Given the description of an element on the screen output the (x, y) to click on. 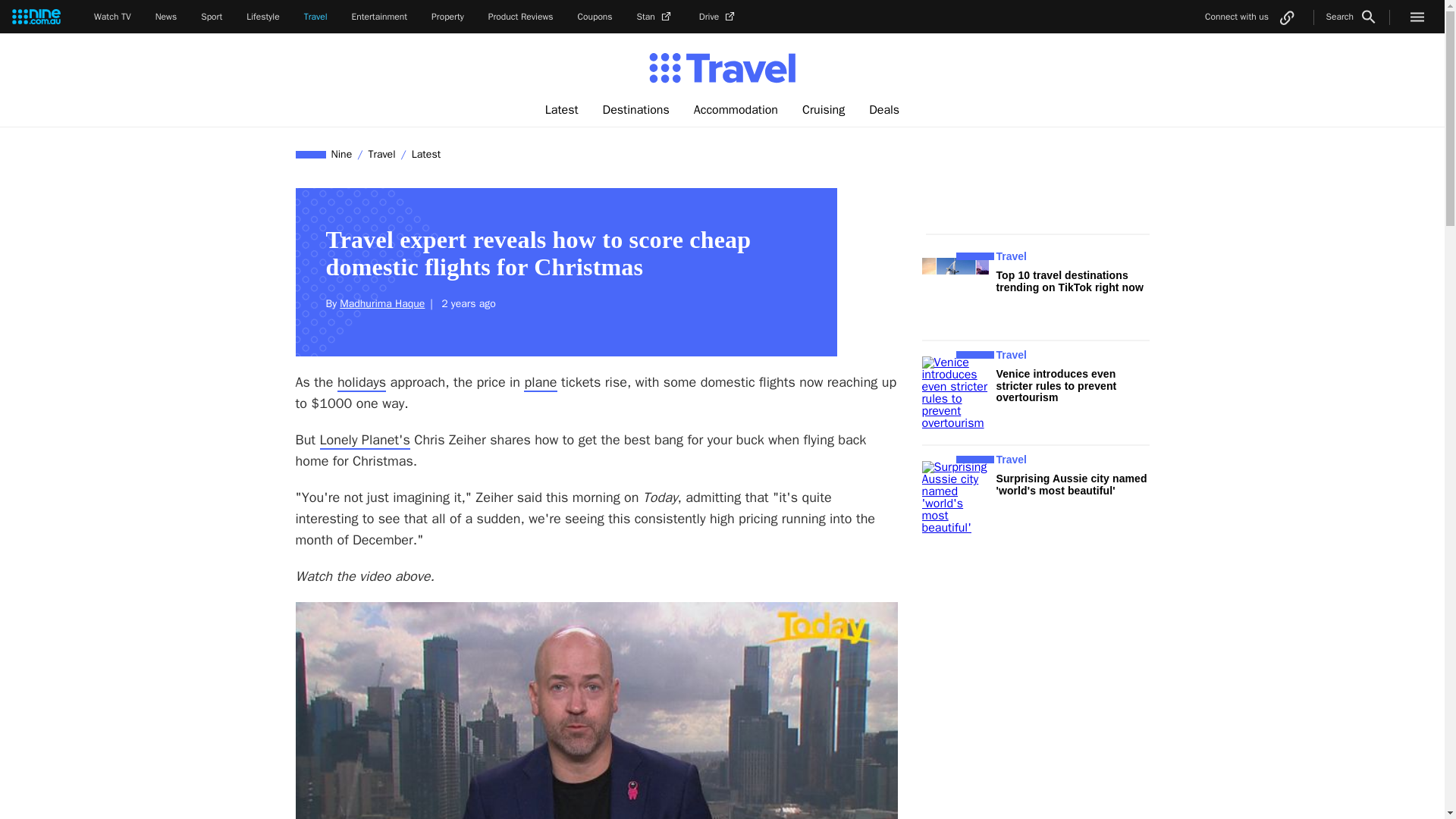
Travel (381, 154)
Deals (884, 109)
Sport (211, 16)
Cruising (823, 109)
Coupons (595, 16)
Accommodation (735, 109)
Lonely Planet's (365, 440)
Property (447, 16)
Latest (425, 154)
Product Reviews (520, 16)
Stan (656, 16)
Drive (718, 16)
News (166, 16)
Travel (315, 16)
plane (540, 382)
